Given the description of an element on the screen output the (x, y) to click on. 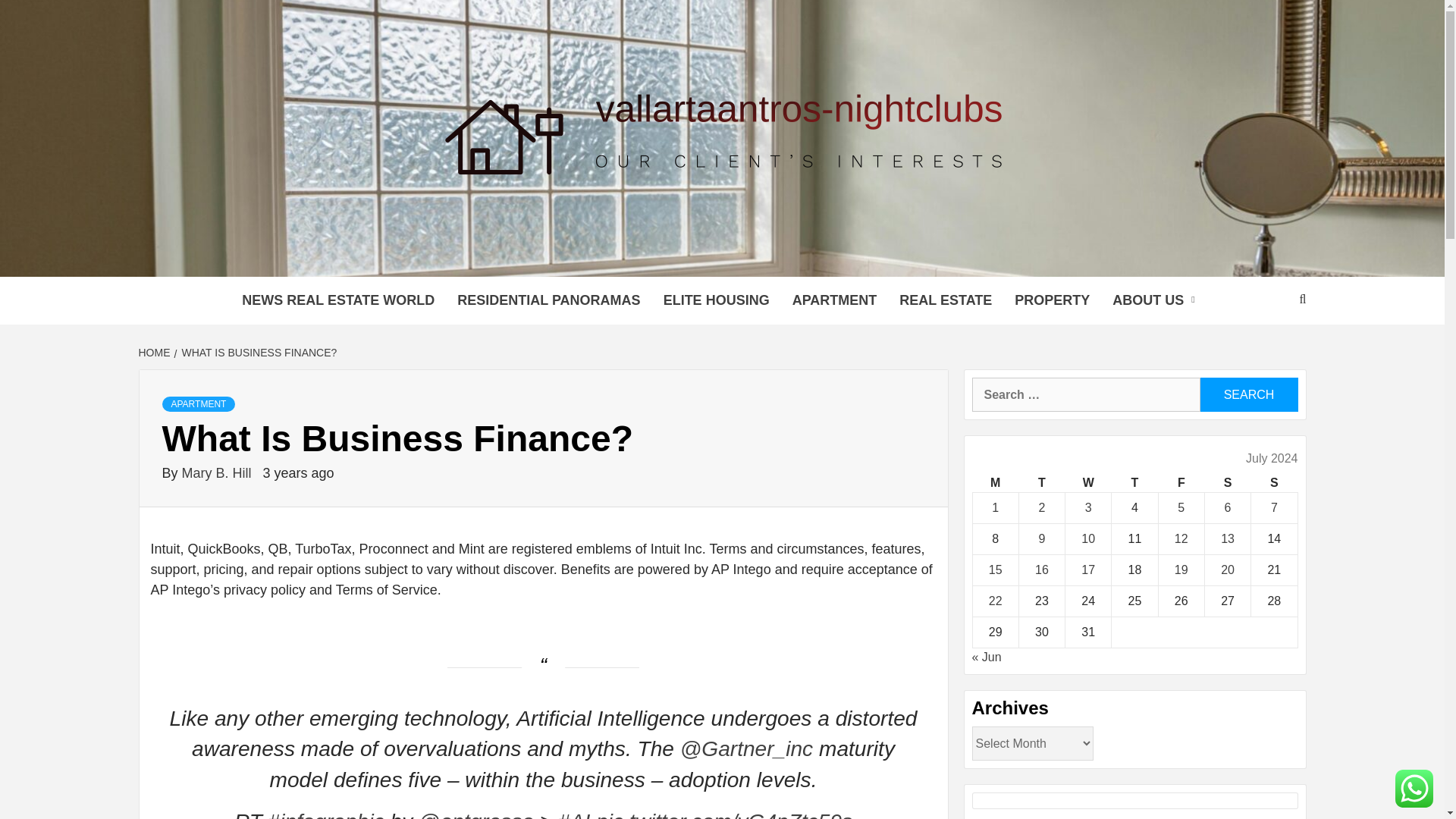
Search (1248, 394)
APARTMENT (834, 300)
WHAT IS BUSINESS FINANCE? (257, 352)
NEWS REAL ESTATE WORLD (337, 300)
ELITE HOUSING (716, 300)
RESIDENTIAL PANORAMAS (547, 300)
Friday (1180, 483)
Monday (994, 483)
HOME (155, 352)
Mary B. Hill (219, 473)
REAL ESTATE (945, 300)
Thursday (1134, 483)
Wednesday (1088, 483)
APARTMENT (198, 403)
Tuesday (1040, 483)
